Given the description of an element on the screen output the (x, y) to click on. 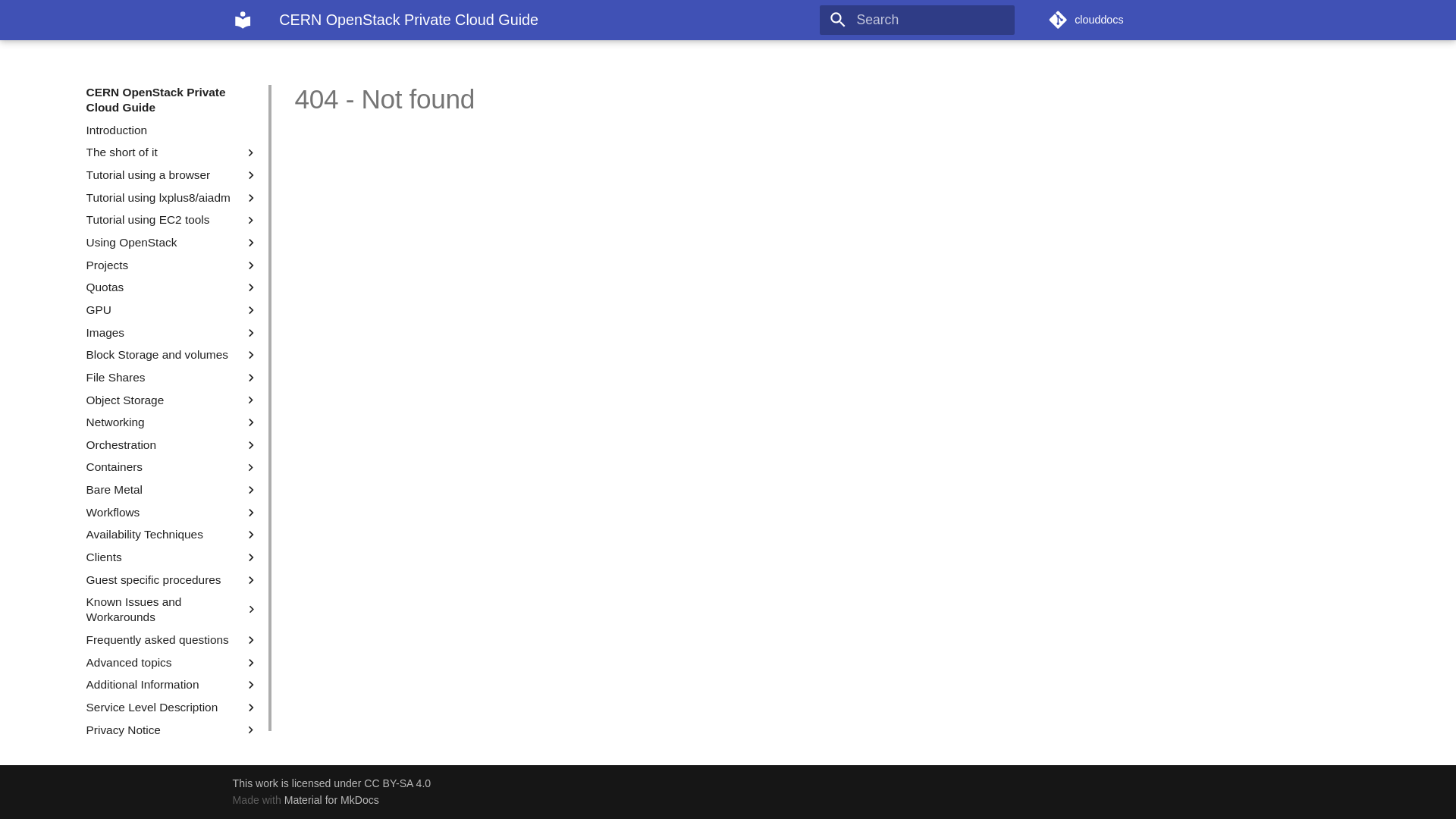
clouddocs Element type: text (1135, 20)
Material for MkDocs Element type: text (331, 799)
CC BY-SA 4.0 Element type: text (397, 783)
CERN OpenStack Private Cloud Guide Element type: hover (242, 19)
Introduction Element type: text (172, 130)
